Given the description of an element on the screen output the (x, y) to click on. 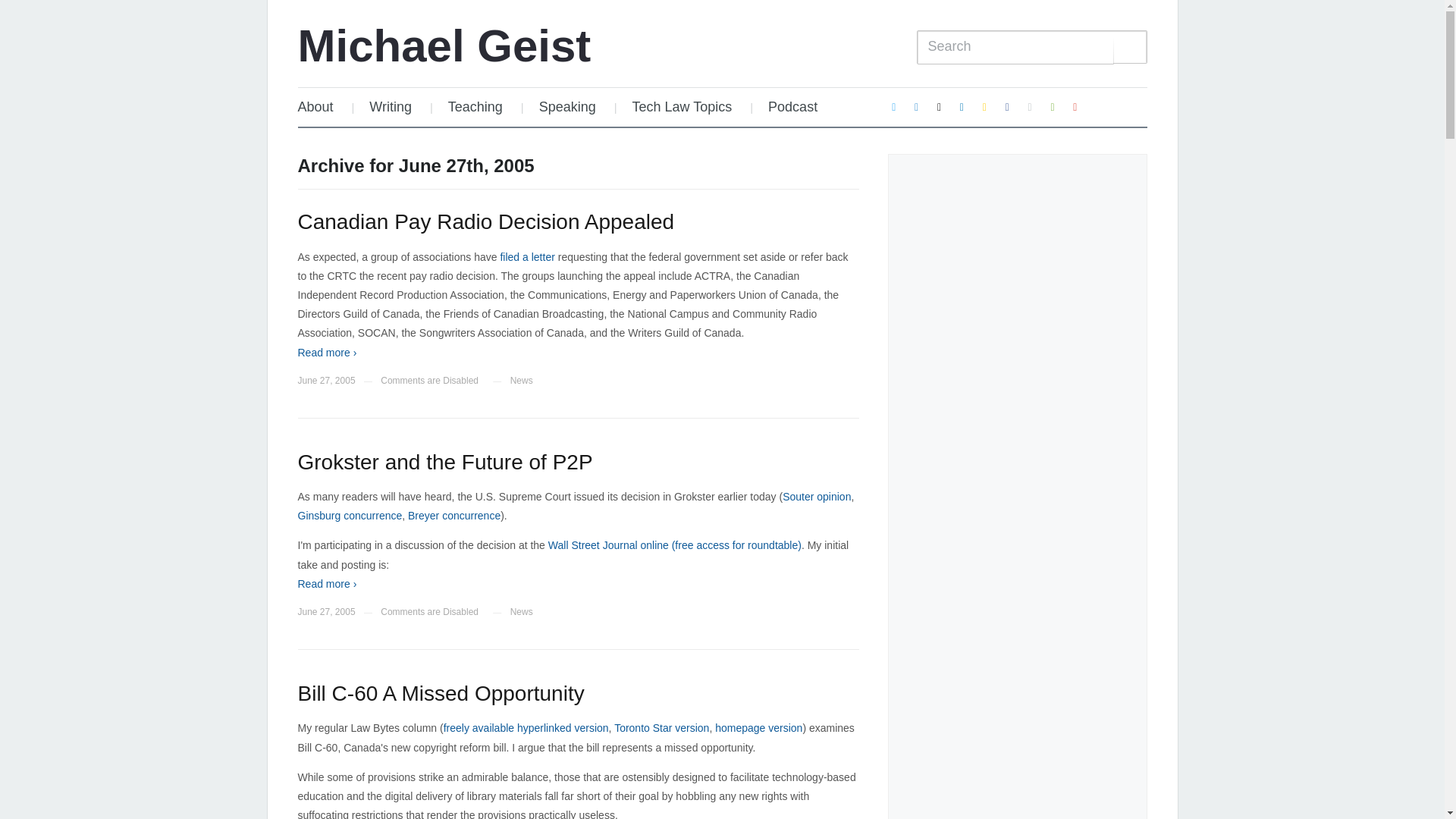
Default Label (1029, 106)
Default Label (961, 106)
Search (1130, 46)
Twitter (893, 106)
Facebook (1006, 106)
Default Label (1074, 106)
linkedin (961, 106)
mastodon (916, 106)
Tech Law Topics (682, 106)
mail (939, 106)
